Given the description of an element on the screen output the (x, y) to click on. 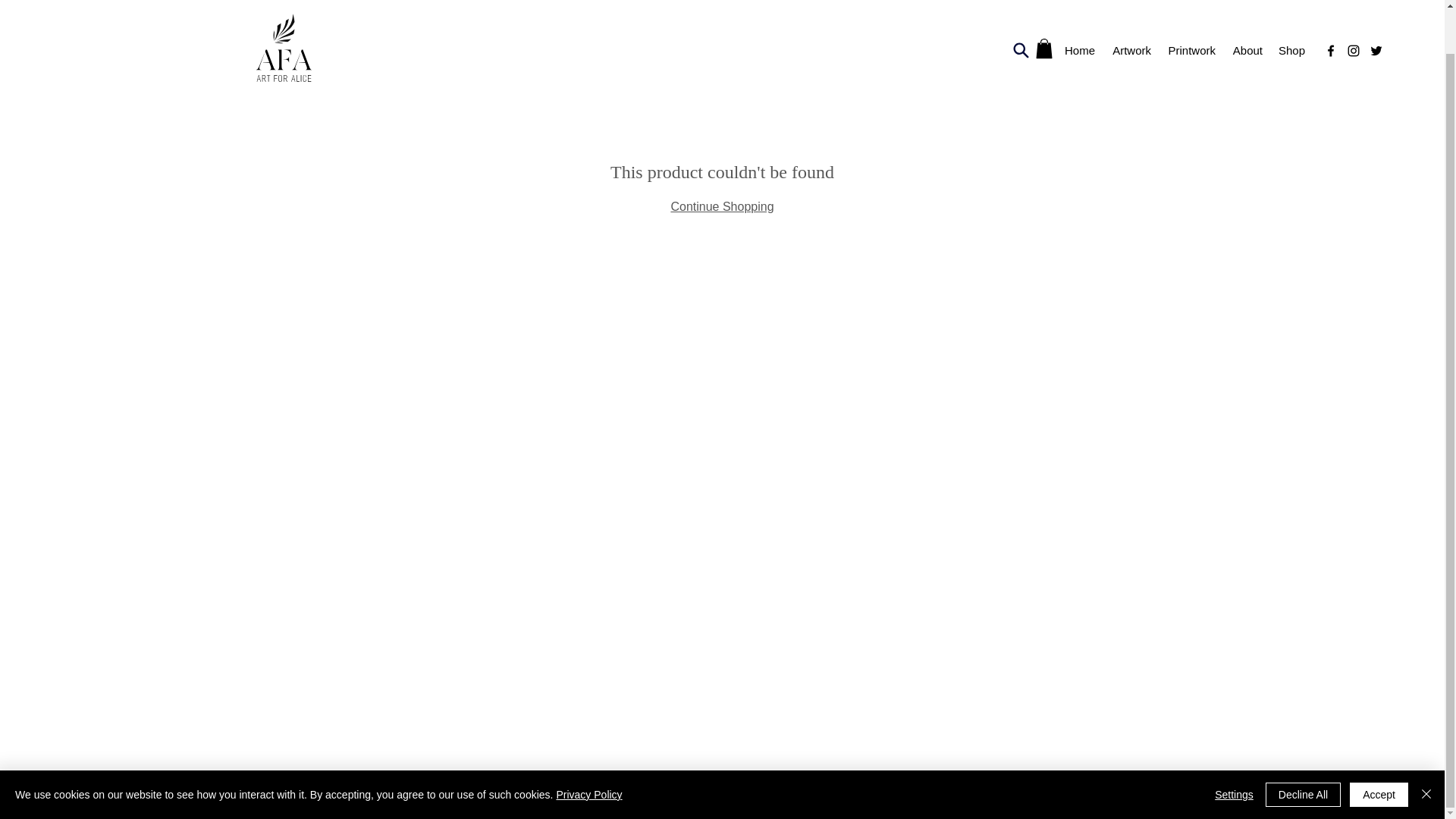
Decline All (1302, 748)
Accept (1378, 748)
Home (1078, 7)
Artwork (1130, 7)
Privacy Policy (588, 748)
Continue Shopping (721, 205)
Printwork (1190, 7)
Shop (1291, 7)
About (1246, 7)
